Given the description of an element on the screen output the (x, y) to click on. 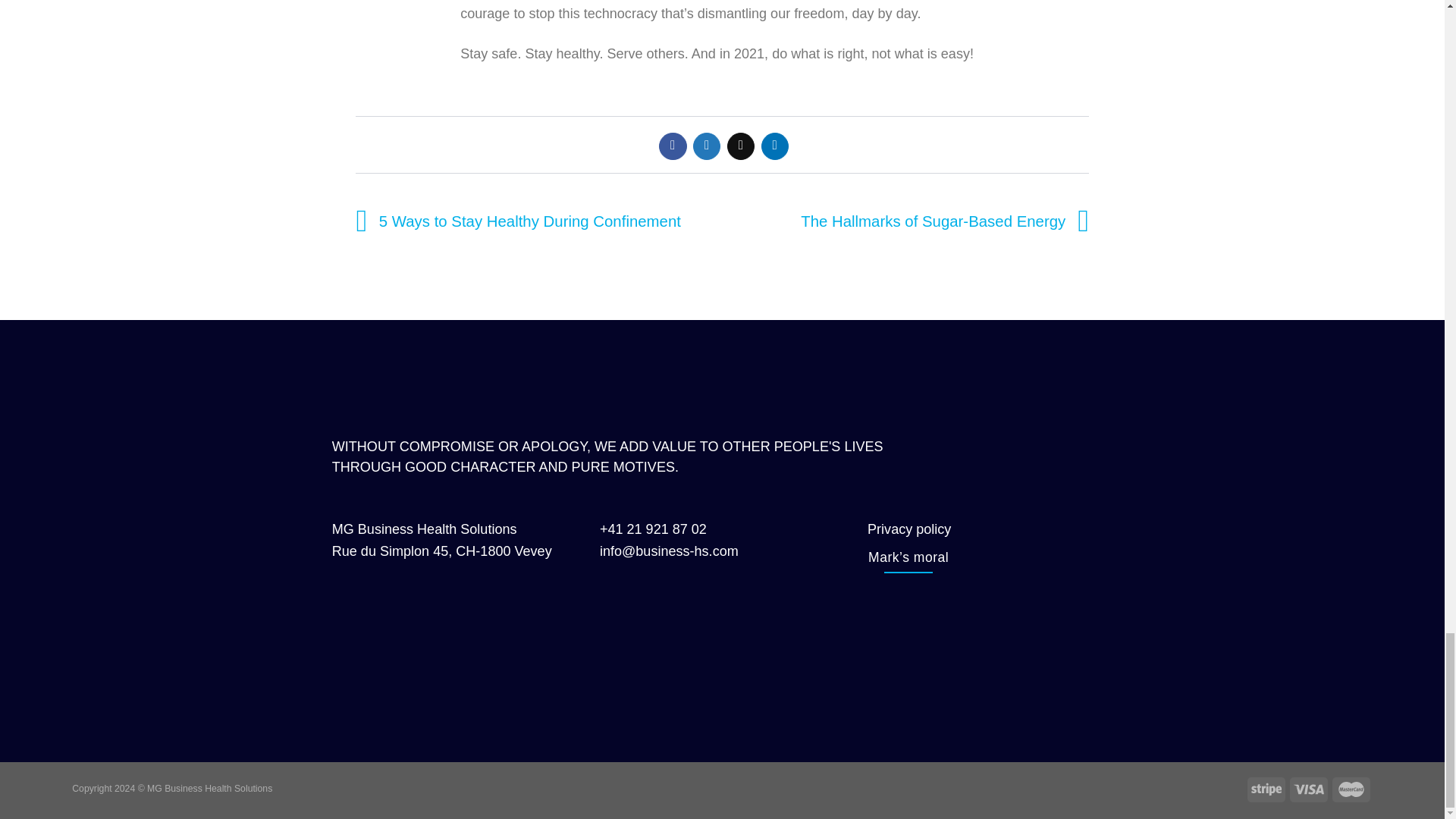
Email to a Friend (740, 146)
Share on Twitter (706, 146)
Privacy policy (908, 529)
Share on LinkedIn (775, 146)
The Hallmarks of Sugar-Based Energy (948, 221)
Share on Facebook (672, 146)
5 Ways to Stay Healthy During Confinement (514, 221)
